Given the description of an element on the screen output the (x, y) to click on. 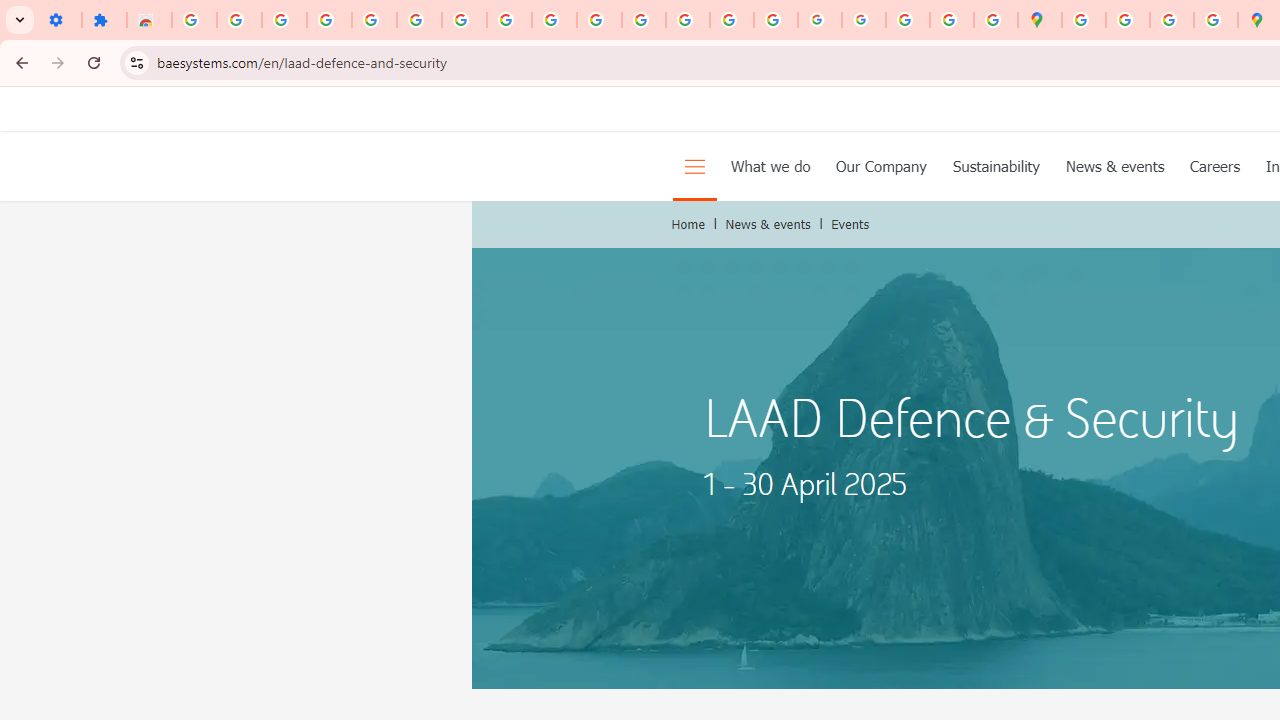
https://scholar.google.com/ (643, 20)
Extensions (103, 20)
News & events (767, 223)
What we do (770, 165)
Delete photos & videos - Computer - Google Photos Help (284, 20)
Safety in Our Products - Google Safety Center (1215, 20)
Reviews: Helix Fruit Jump Arcade Game (148, 20)
